Given the description of an element on the screen output the (x, y) to click on. 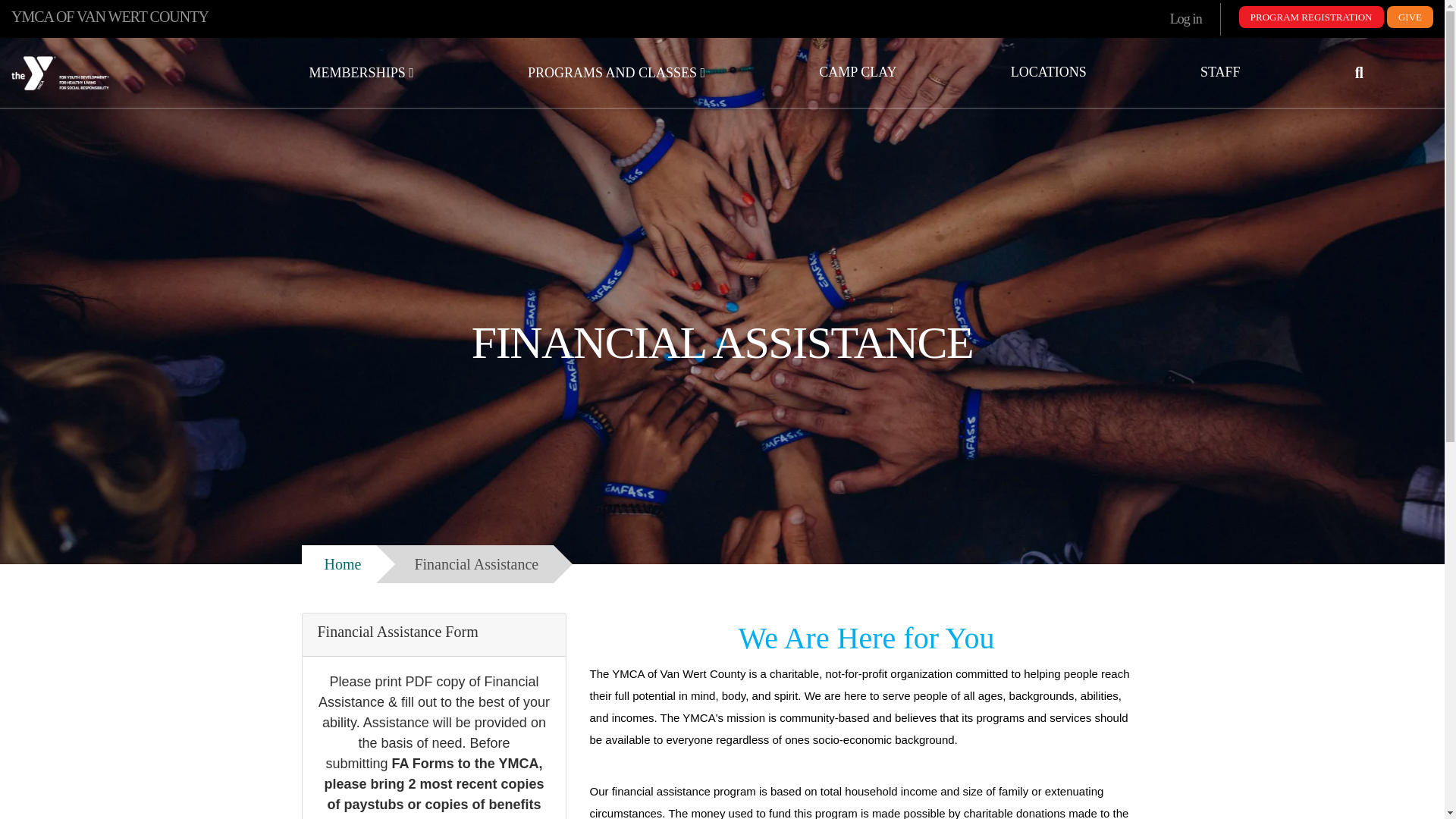
MEMBERSHIPS (360, 72)
GIVE (1409, 16)
Click to view our Director Staff (1219, 72)
YMCA of Van Wert County (120, 73)
Aqua Park Info (857, 72)
PROGRAM REGISTRATION (1311, 16)
PROGRAMS AND CLASSES (615, 72)
Log in (1185, 19)
